Given the description of an element on the screen output the (x, y) to click on. 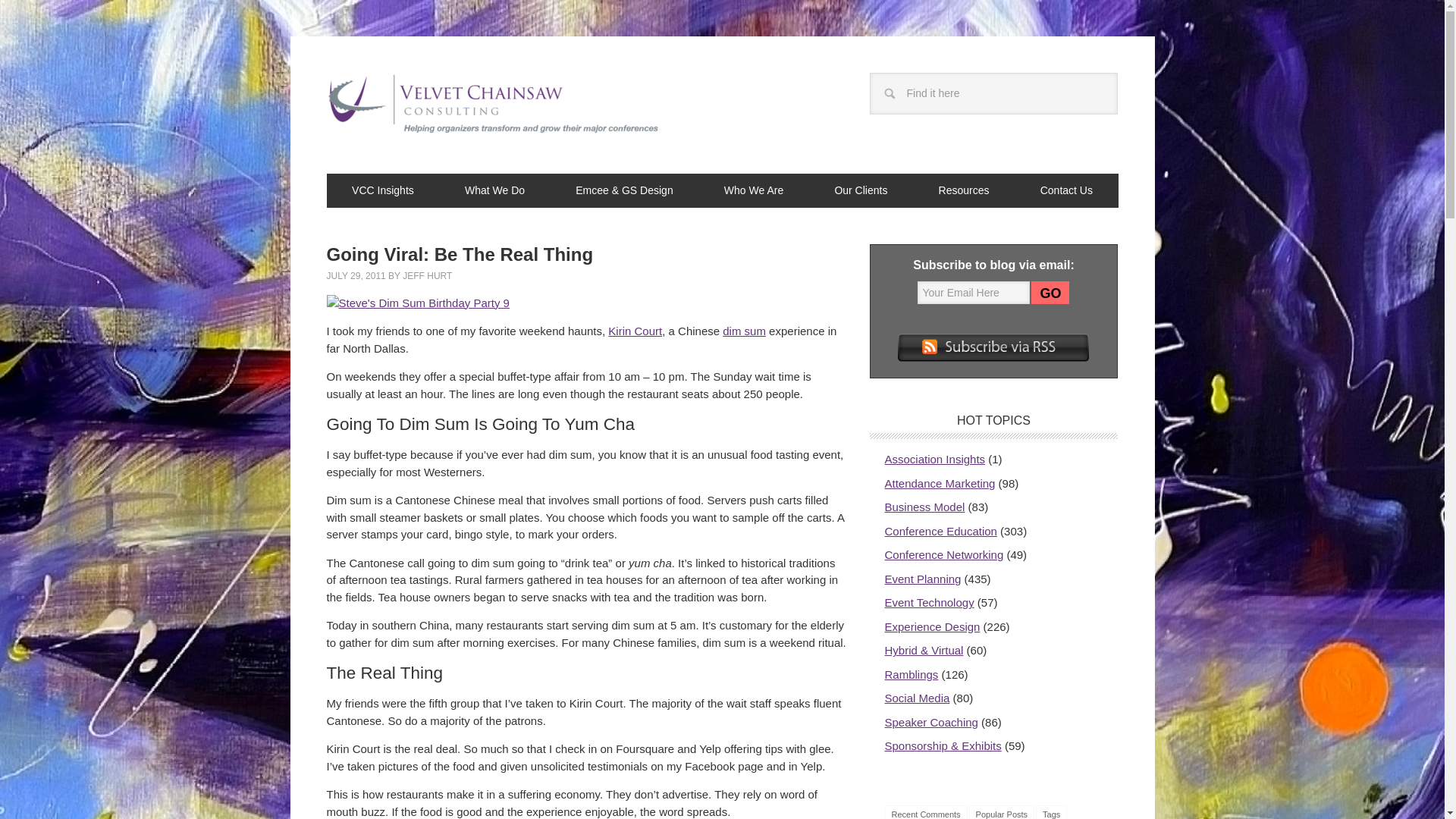
Steve's Dim Sum Birthday Party 9 by missmeng, on Flickr (417, 301)
Go (1049, 292)
Contact Us (1066, 190)
VCC Insights (382, 190)
Search for: (993, 93)
Who We Are (753, 190)
Posts by Jeff Hurt (427, 276)
dim sum (743, 330)
Our Clients (860, 190)
Association Insights (934, 459)
